Given the description of an element on the screen output the (x, y) to click on. 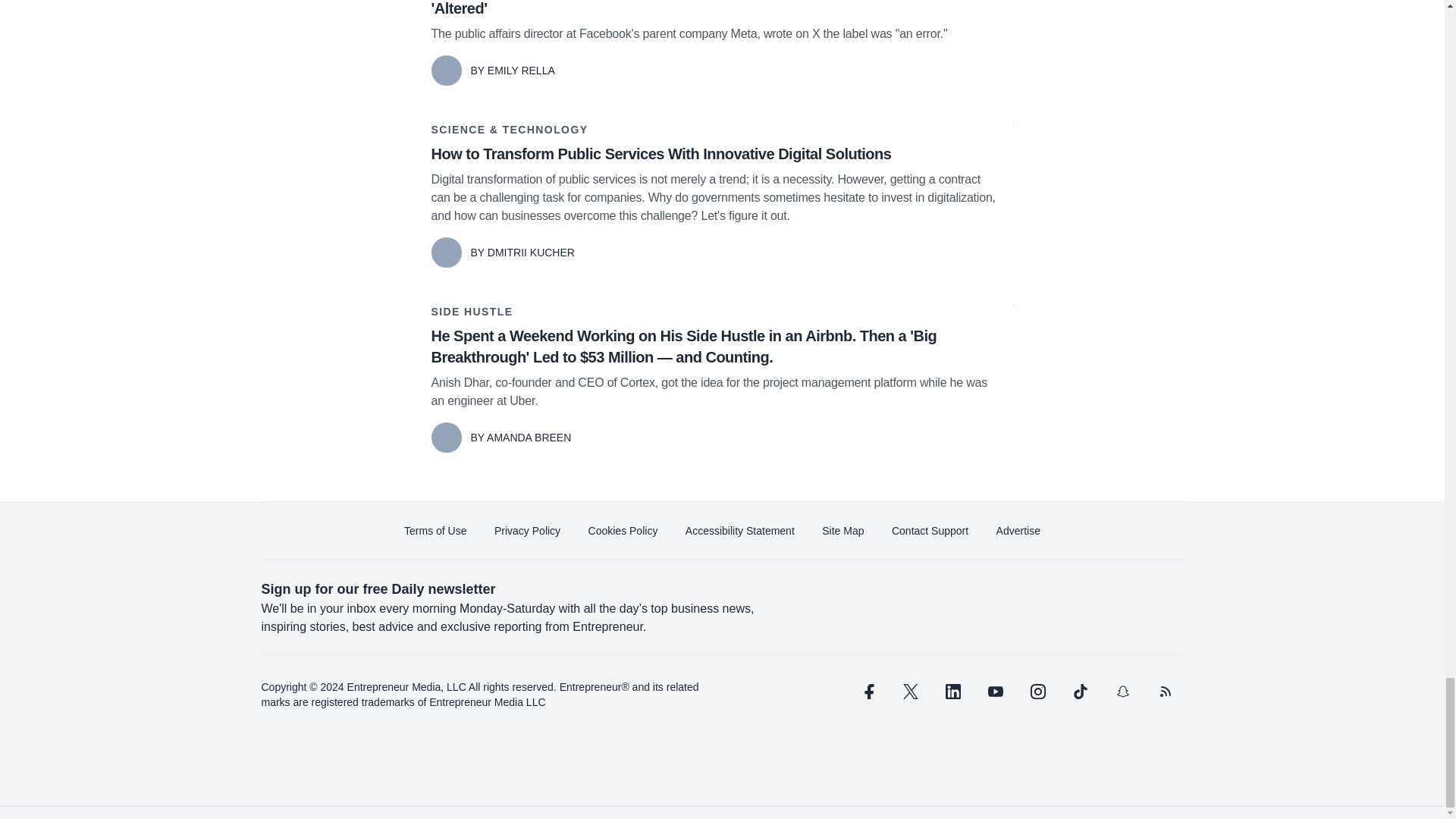
youtube (994, 691)
facebook (866, 691)
tiktok (1079, 691)
linkedin (952, 691)
snapchat (1121, 691)
twitter (909, 691)
instagram (1037, 691)
